Given the description of an element on the screen output the (x, y) to click on. 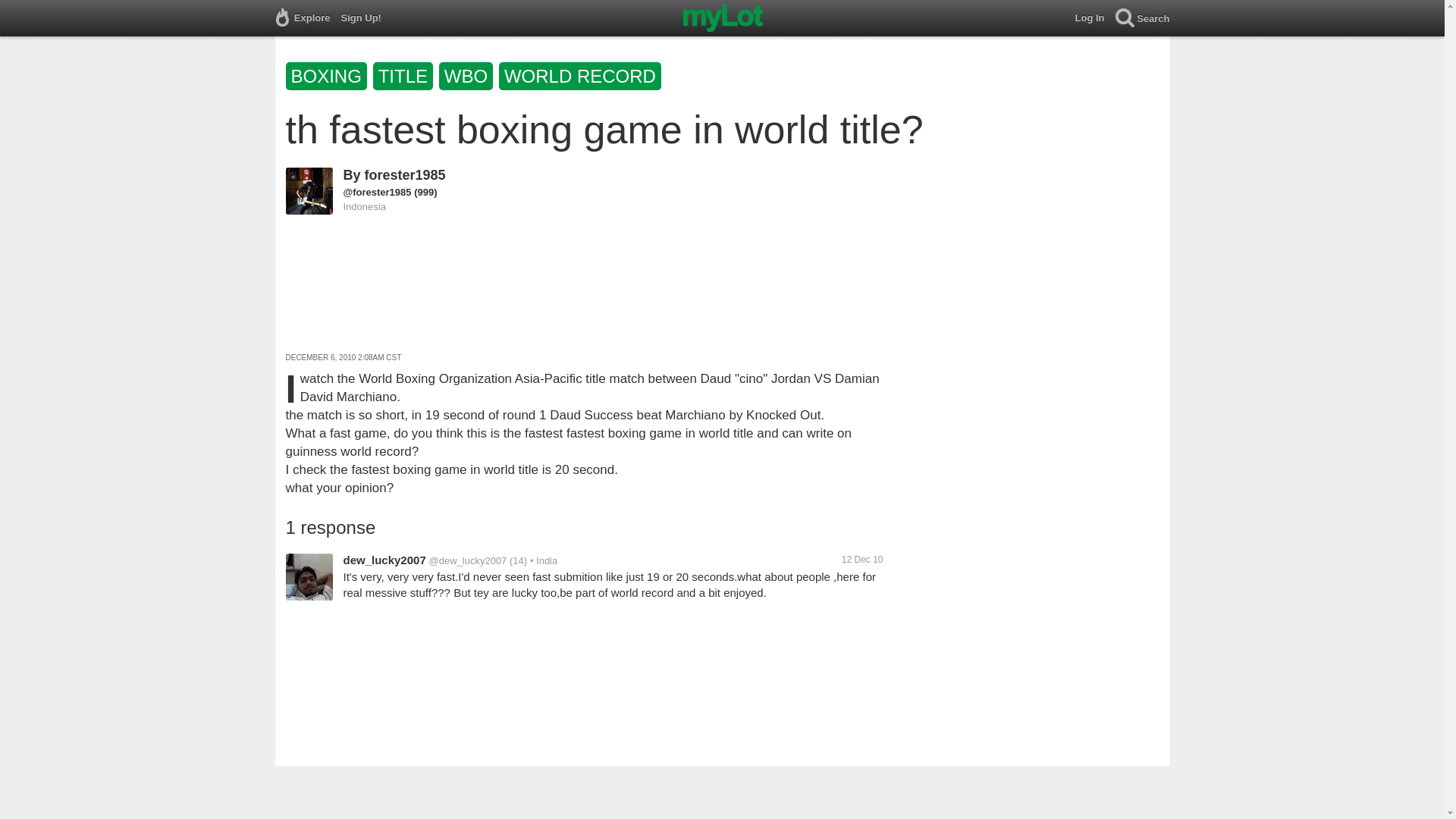
WORLD RECORD (581, 79)
TITLE (405, 79)
Sign Up! (365, 18)
Log In (1095, 18)
BOXING (328, 79)
WBO (469, 79)
forester1985 (405, 174)
